Given the description of an element on the screen output the (x, y) to click on. 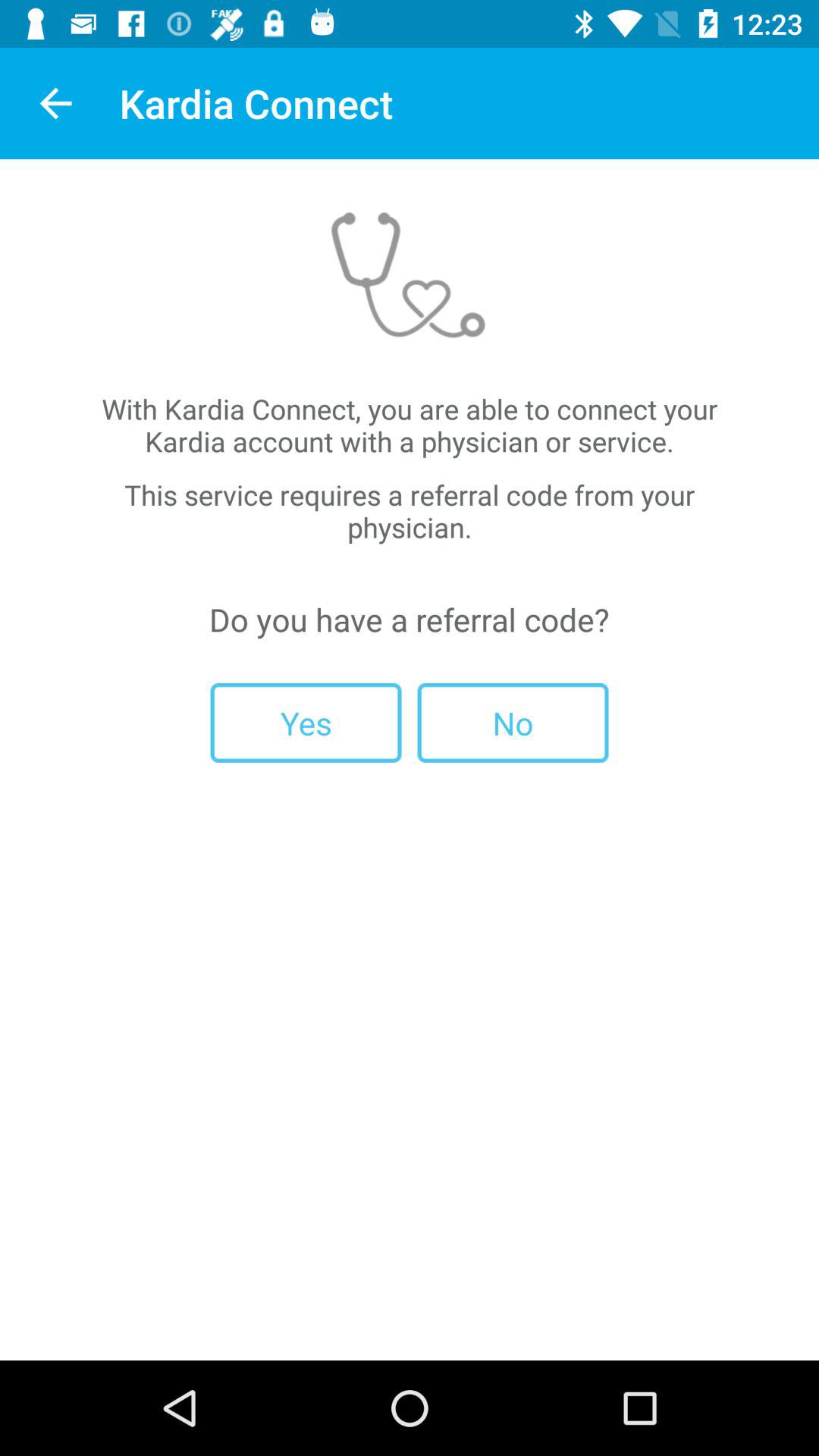
jump to the no item (512, 722)
